Given the description of an element on the screen output the (x, y) to click on. 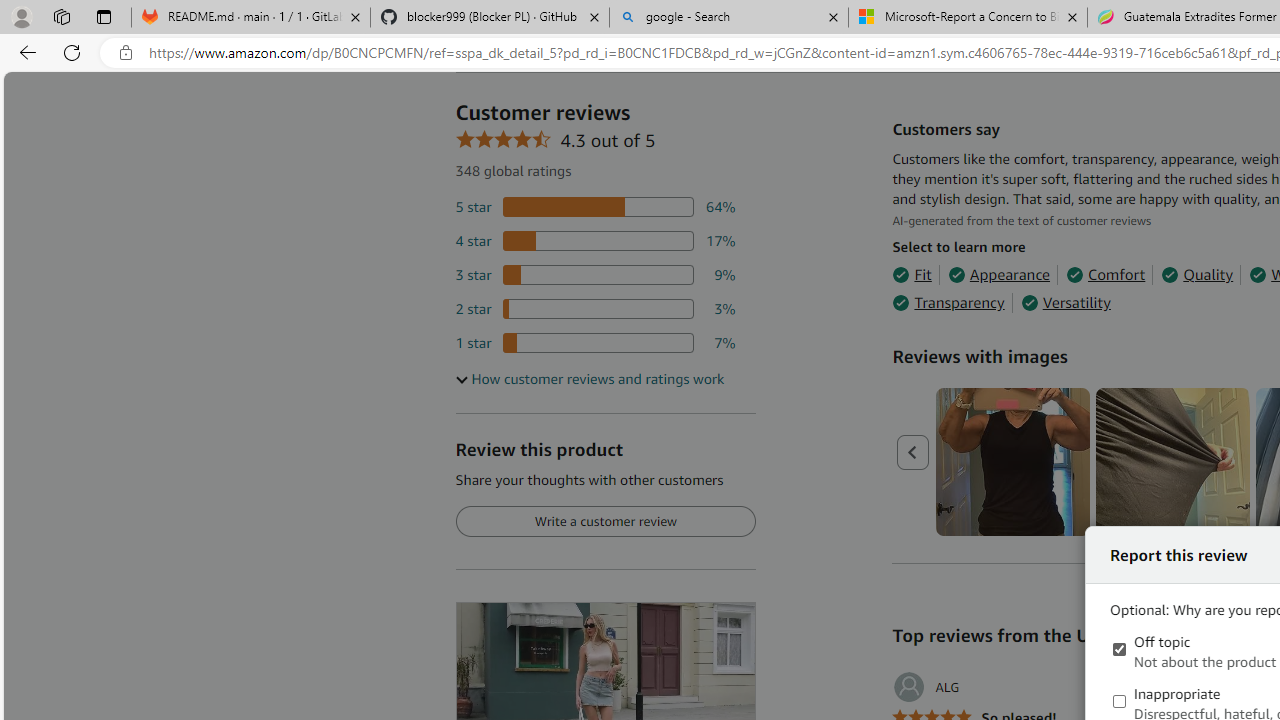
ALG (926, 687)
Customer Image (1172, 462)
Previous page (913, 452)
Appearance (998, 274)
Class: a-carousel-card (1173, 462)
Fit (911, 274)
9 percent of reviews have 3 stars (595, 274)
7 percent of reviews have 1 stars (595, 343)
google - Search (729, 17)
Versatility (1065, 303)
